Given the description of an element on the screen output the (x, y) to click on. 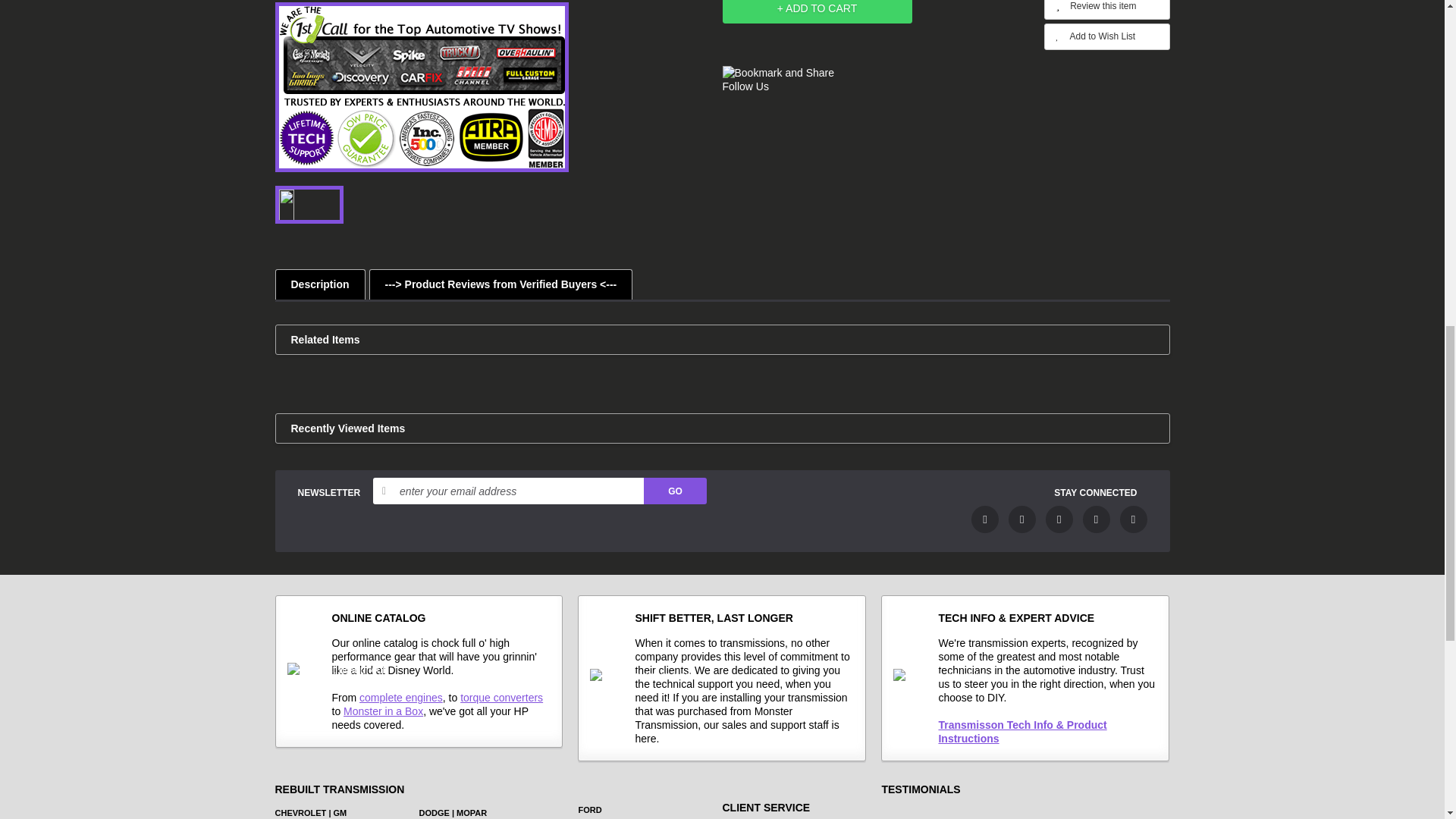
Subscribe to Our Channel (1059, 519)
Like Us on Facebook (984, 519)
Follow Us on Pinterest (1096, 519)
Follow Us on Twitter (1022, 519)
GO (674, 490)
Follow Us on Instagram (1133, 519)
